Given the description of an element on the screen output the (x, y) to click on. 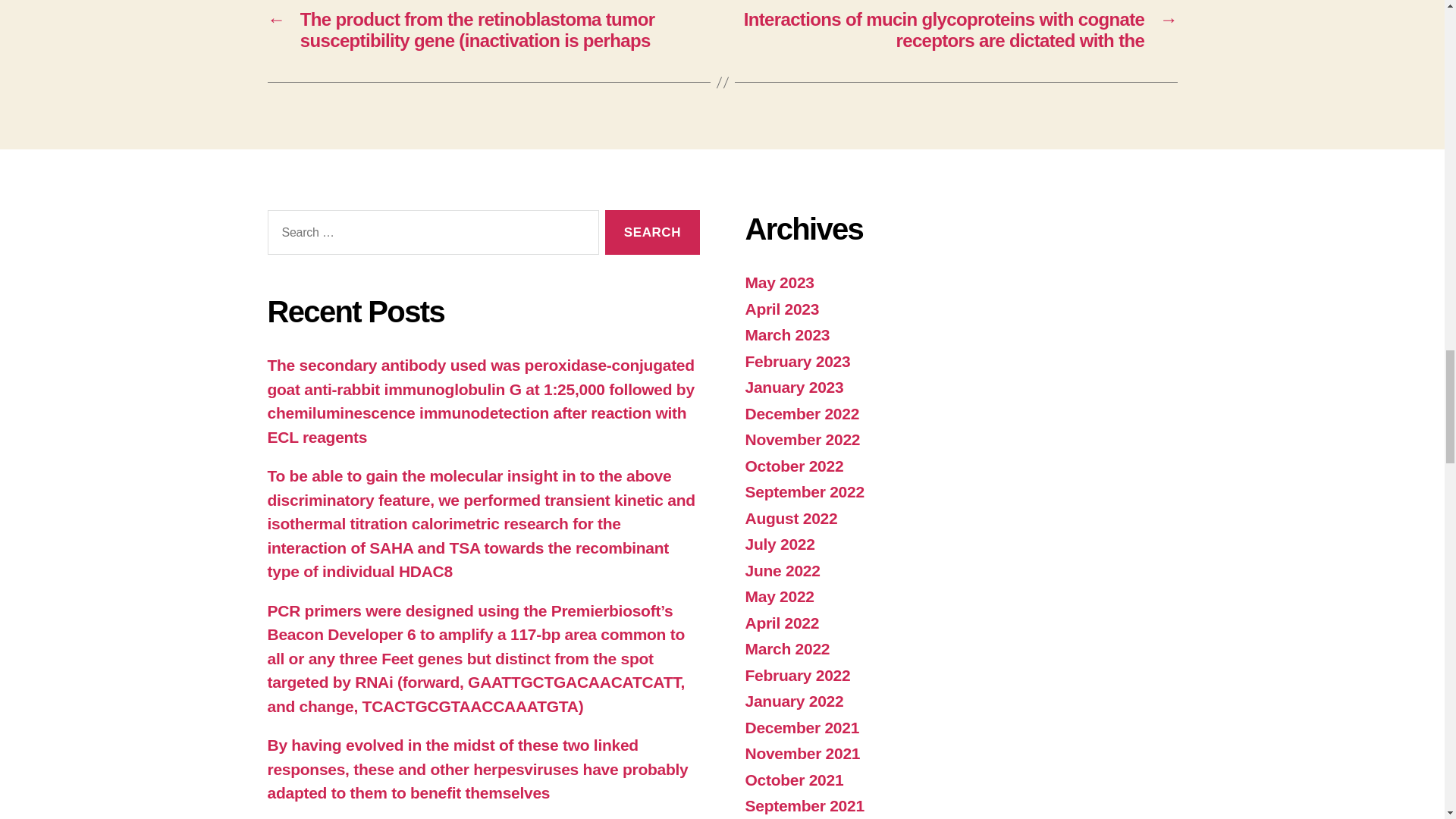
August 2022 (790, 518)
April 2022 (781, 622)
Search (651, 231)
July 2022 (778, 543)
May 2023 (778, 282)
January 2023 (793, 386)
January 2022 (793, 701)
March 2023 (786, 334)
Search (651, 231)
